Given the description of an element on the screen output the (x, y) to click on. 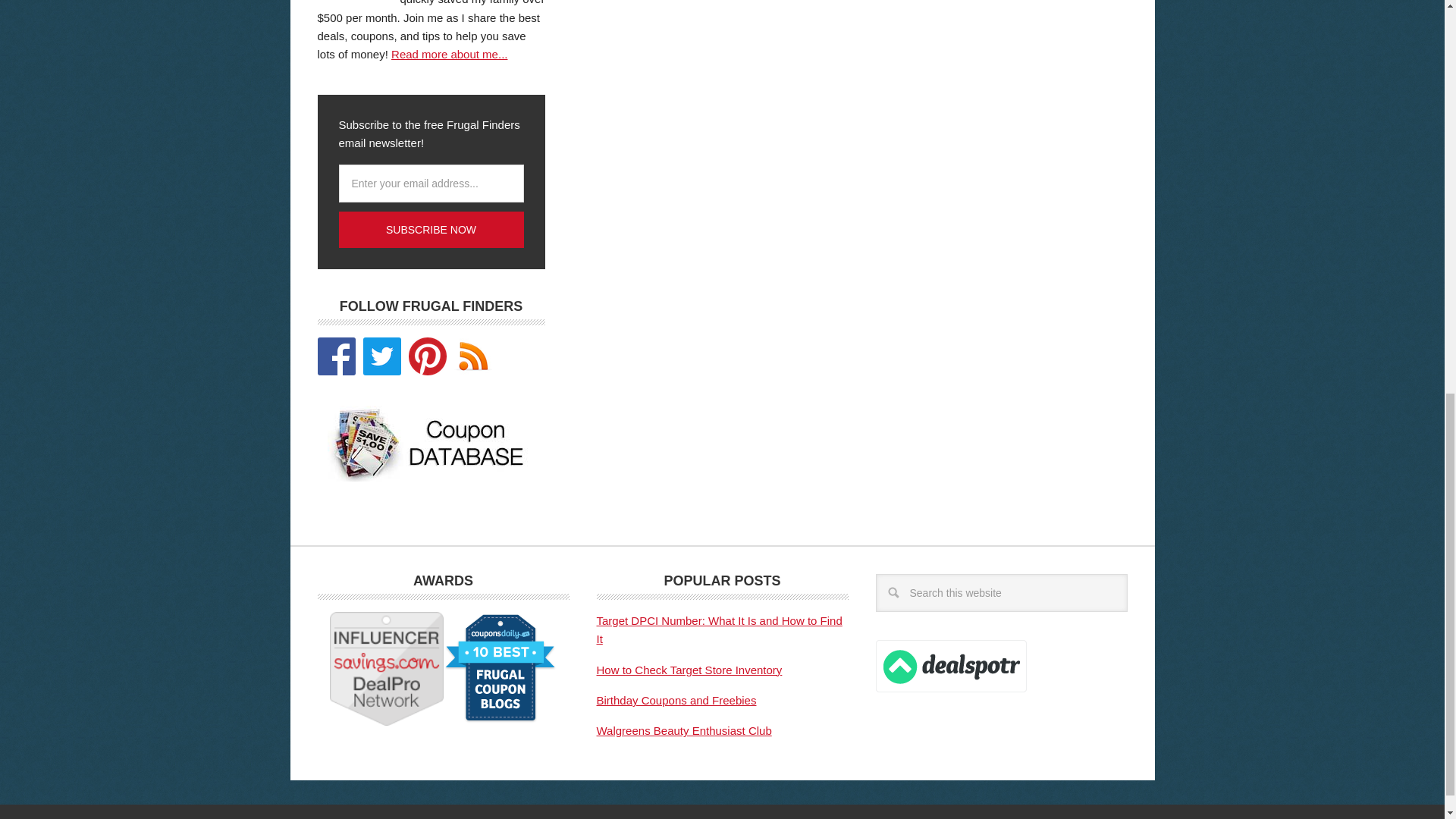
Facebook (336, 356)
Read more about me... (448, 53)
Subscribe Now (429, 229)
Subscribe Now (429, 229)
Pinterest (426, 356)
Enter your email address... (429, 183)
RSS (472, 356)
Twitter (381, 356)
